Given the description of an element on the screen output the (x, y) to click on. 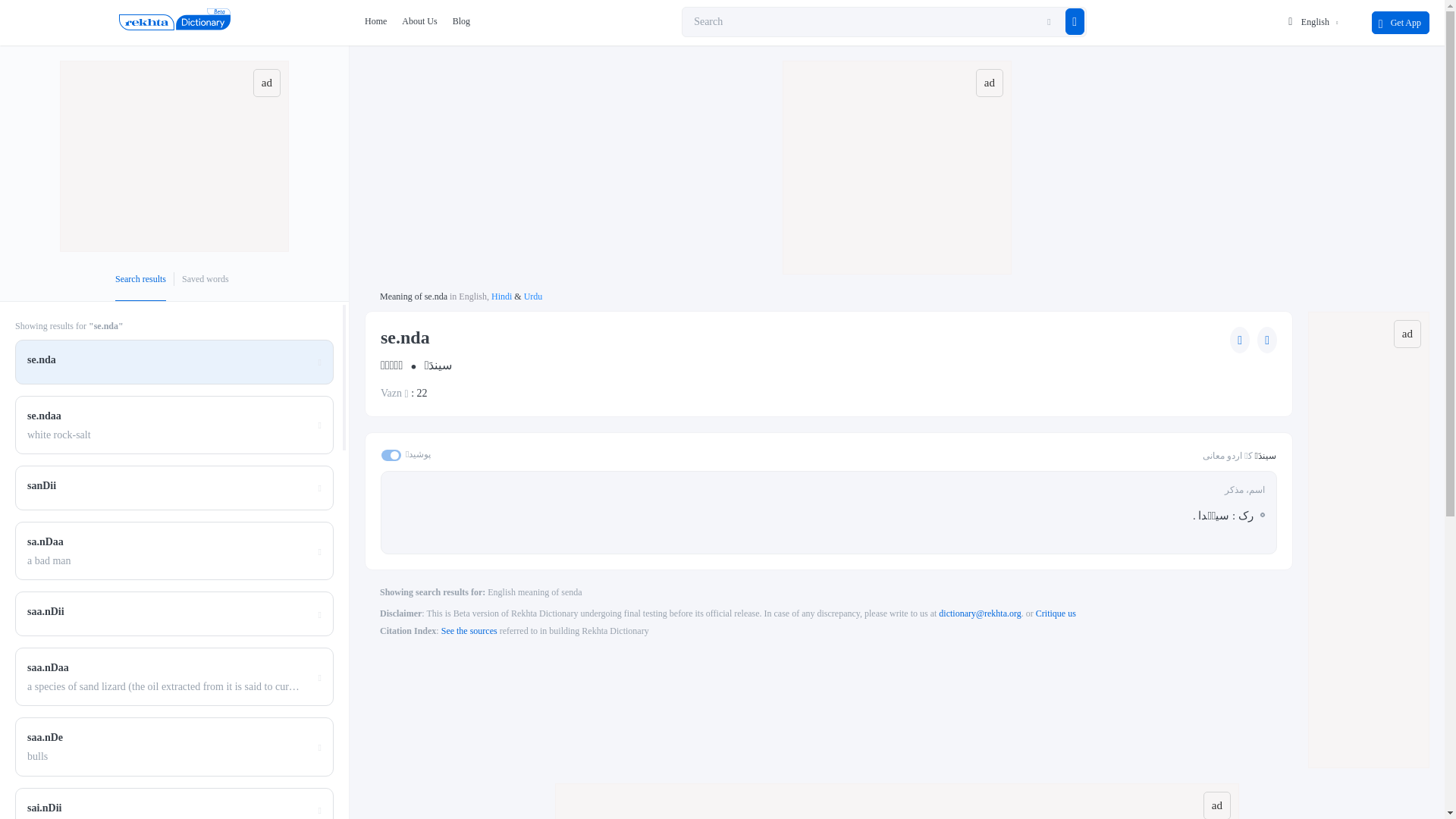
Advertisement (898, 801)
Critique us (1055, 613)
Citation (469, 630)
Advertisement (174, 155)
